Given the description of an element on the screen output the (x, y) to click on. 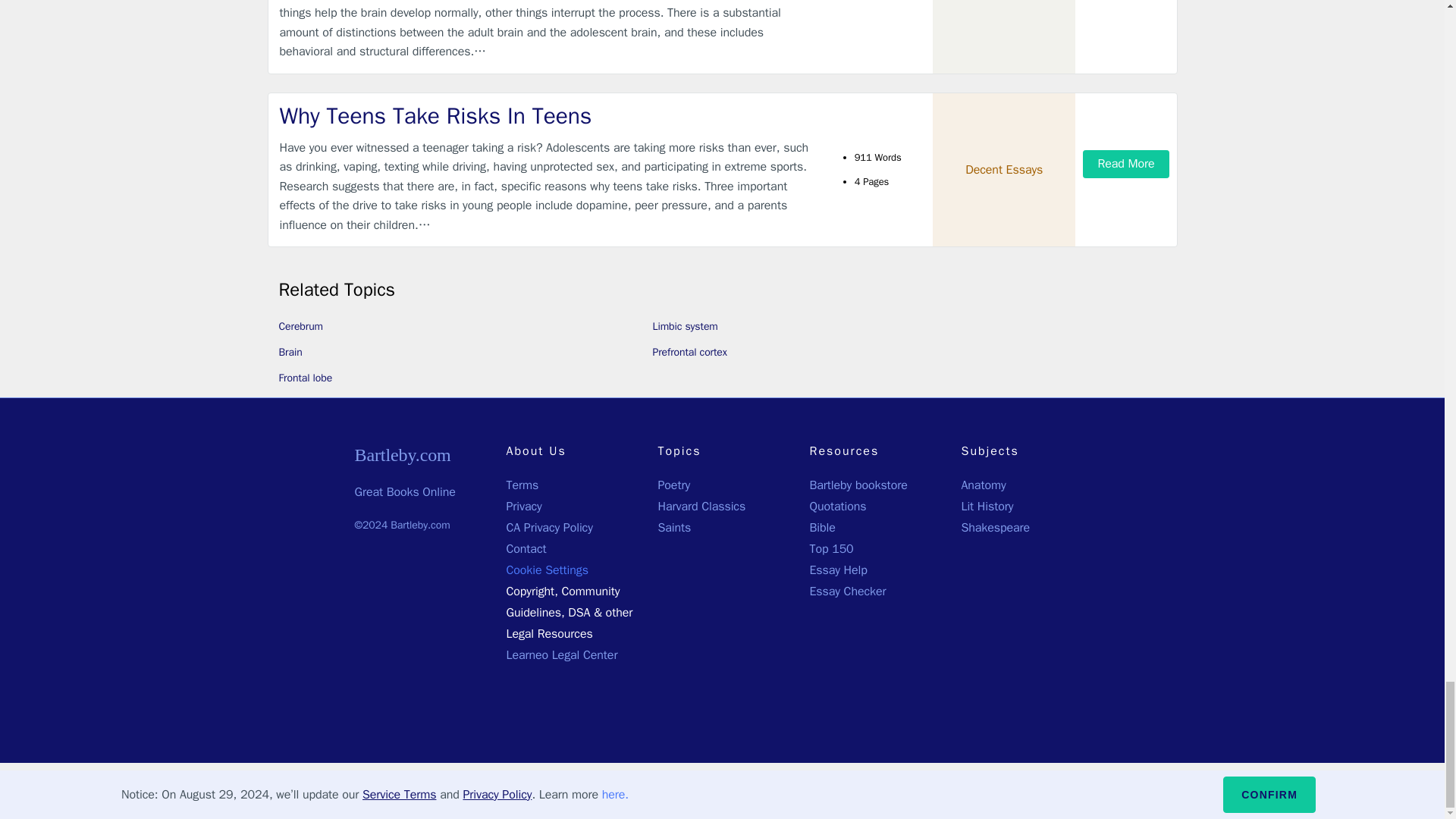
Prefrontal cortex (689, 351)
Frontal lobe (306, 377)
Cerebrum (301, 326)
Limbic system (684, 326)
Brain (290, 351)
